Given the description of an element on the screen output the (x, y) to click on. 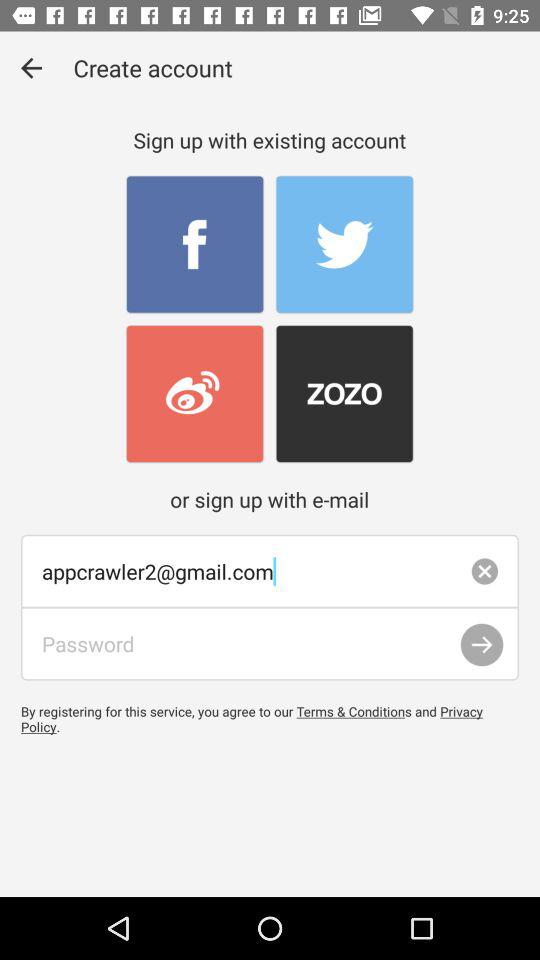
sign up with existing twitter account (344, 244)
